Given the description of an element on the screen output the (x, y) to click on. 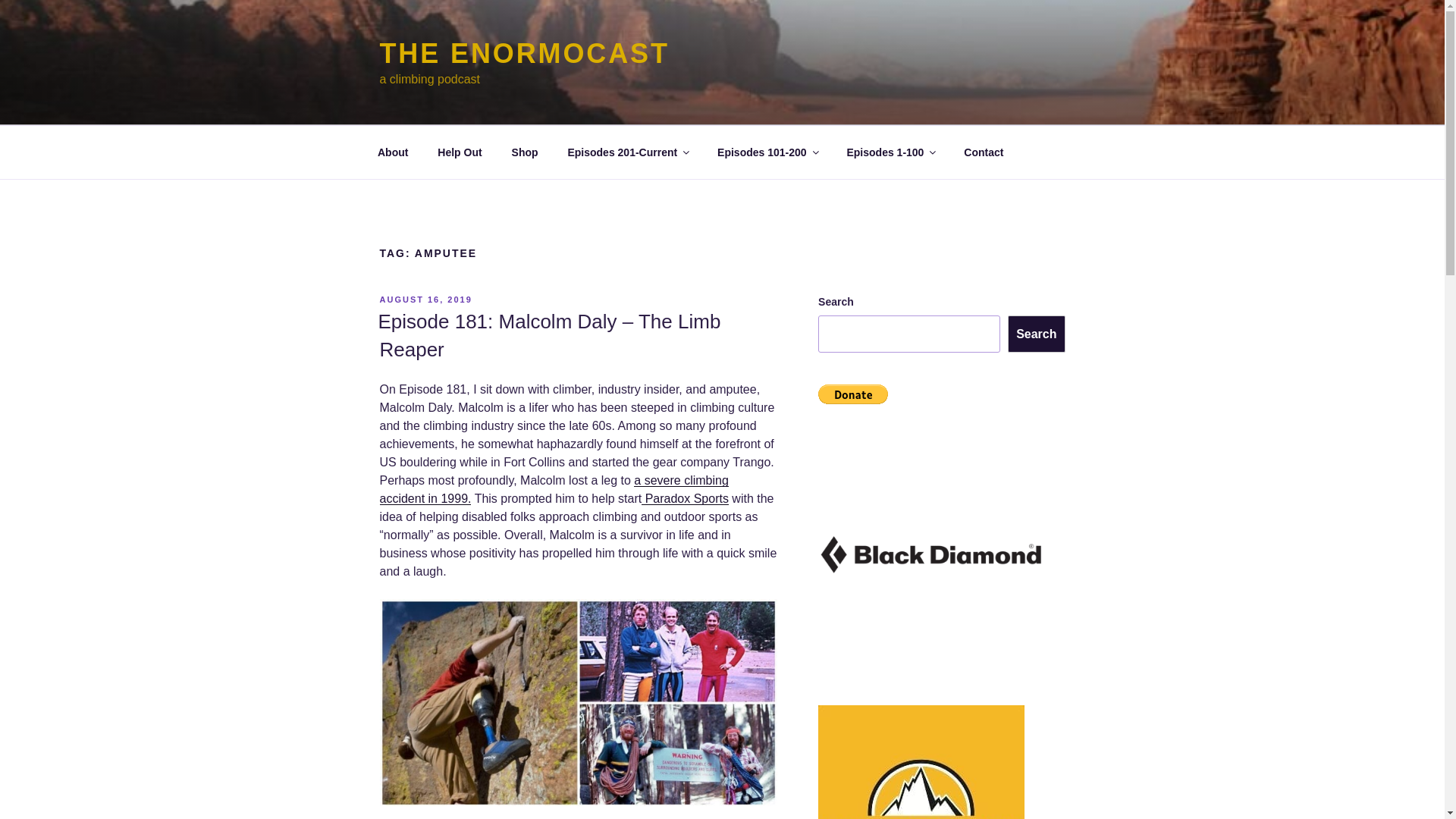
Paradox Sports (685, 498)
AUGUST 16, 2019 (424, 298)
THE ENORMOCAST (523, 52)
Episodes 1-100 (889, 151)
a severe climbing accident in 1999. (553, 489)
Contact (983, 151)
Episodes 101-200 (767, 151)
Help Out (460, 151)
Episodes 201-Current (627, 151)
Shop (524, 151)
